Given the description of an element on the screen output the (x, y) to click on. 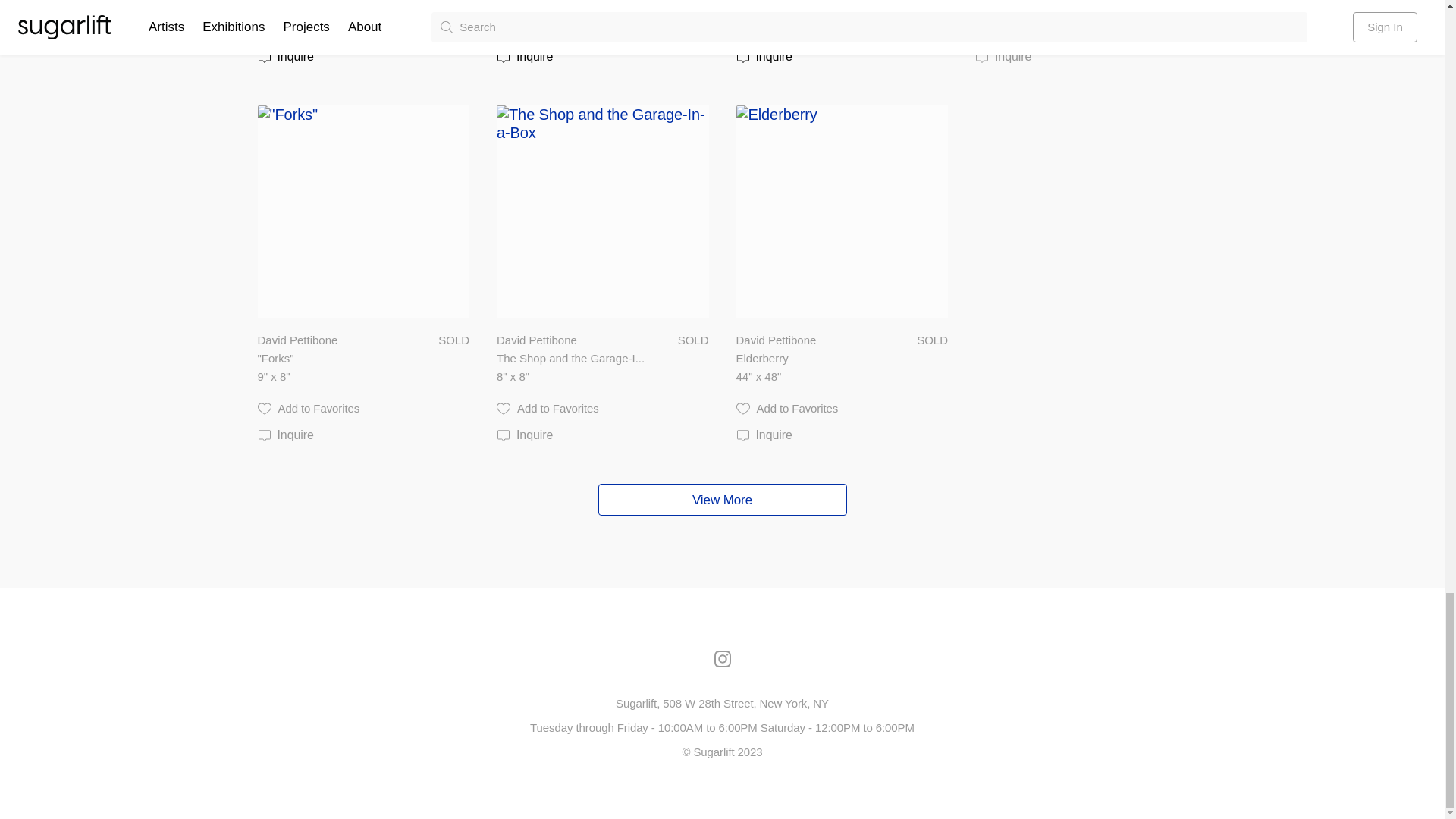
Go to Instagram page (722, 658)
